Given the description of an element on the screen output the (x, y) to click on. 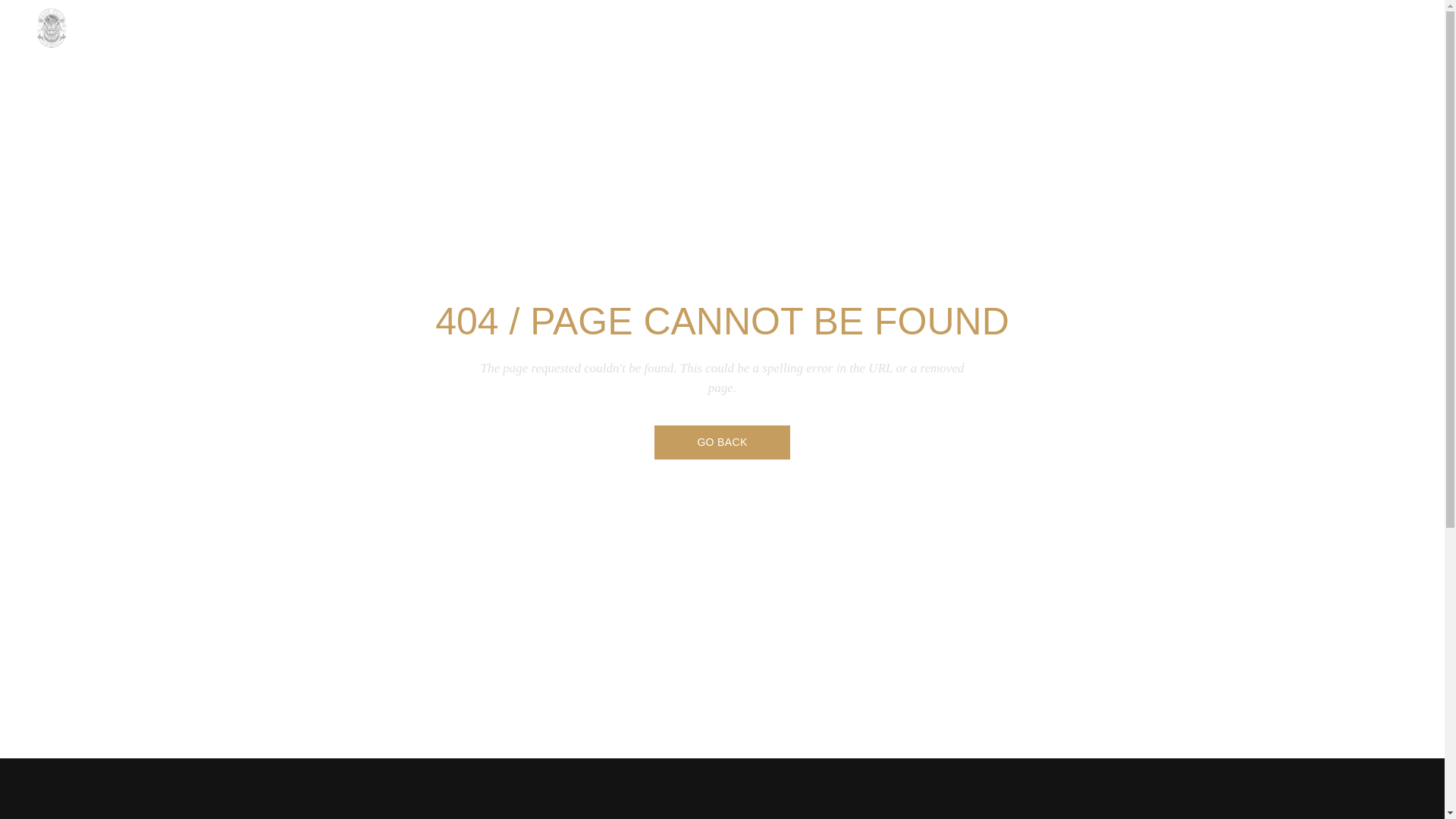
GO BACK (721, 442)
GALLERY (1339, 30)
